Given the description of an element on the screen output the (x, y) to click on. 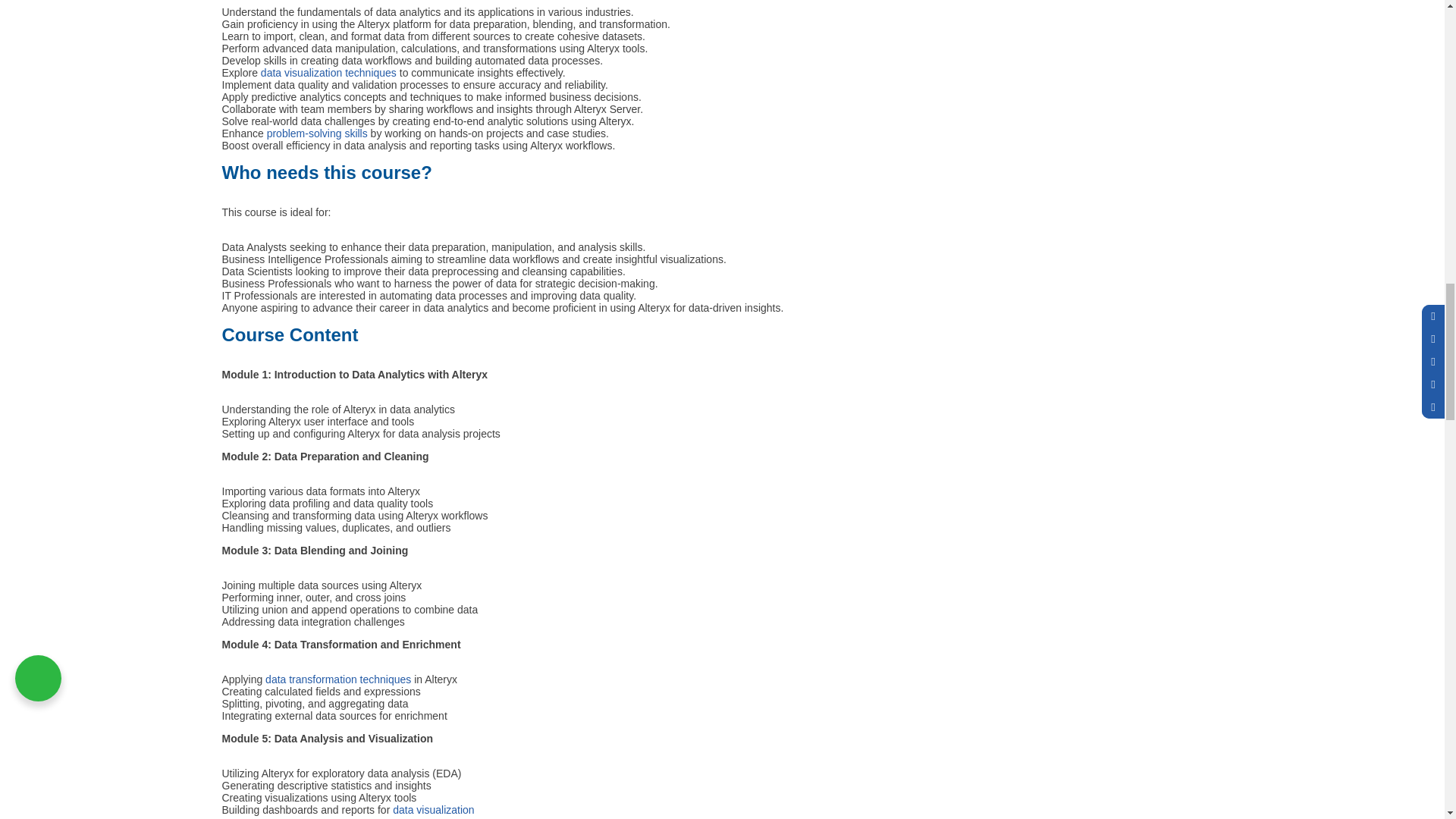
data transformation techniques (338, 679)
problem-solving skills (317, 133)
data visualization (433, 809)
data visualization techniques (328, 72)
